Given the description of an element on the screen output the (x, y) to click on. 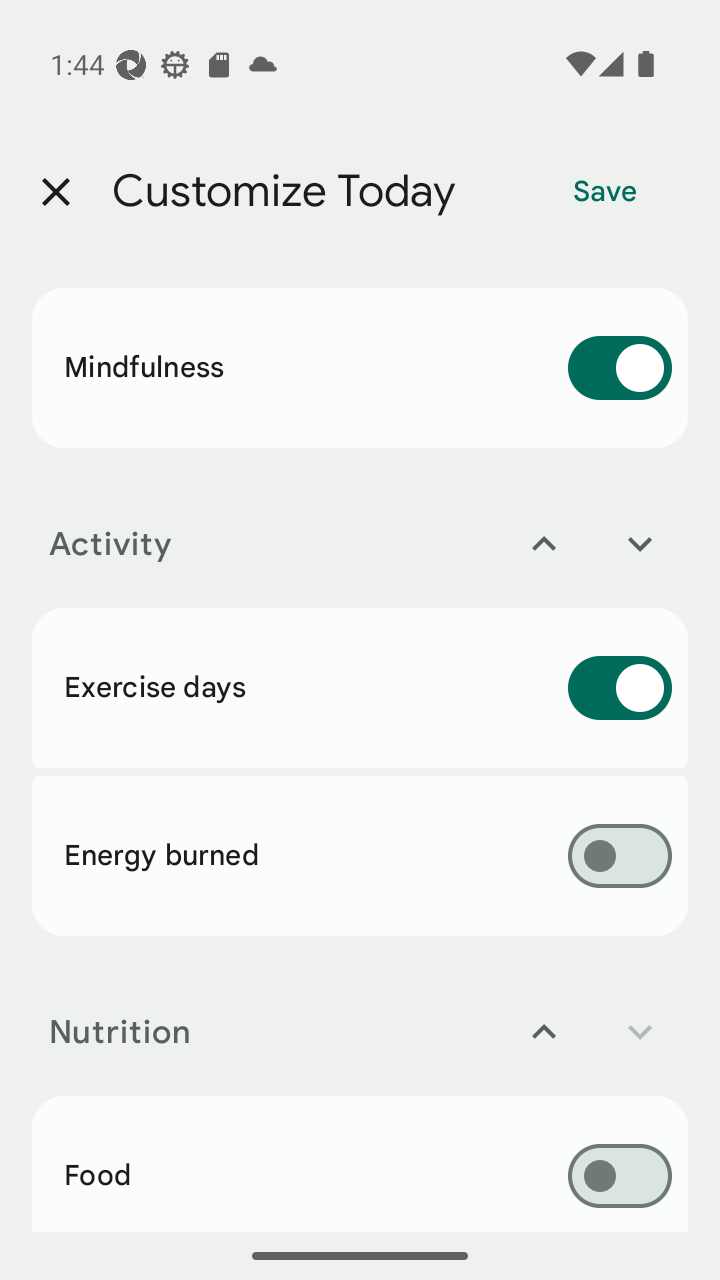
Close (55, 191)
Save (605, 191)
Mindfulness (359, 368)
Move Activity up (543, 543)
Move Activity down (639, 543)
Exercise days (359, 688)
Energy burned (359, 855)
Move Nutrition up (543, 1032)
Move Nutrition down (639, 1032)
Food (359, 1163)
